Given the description of an element on the screen output the (x, y) to click on. 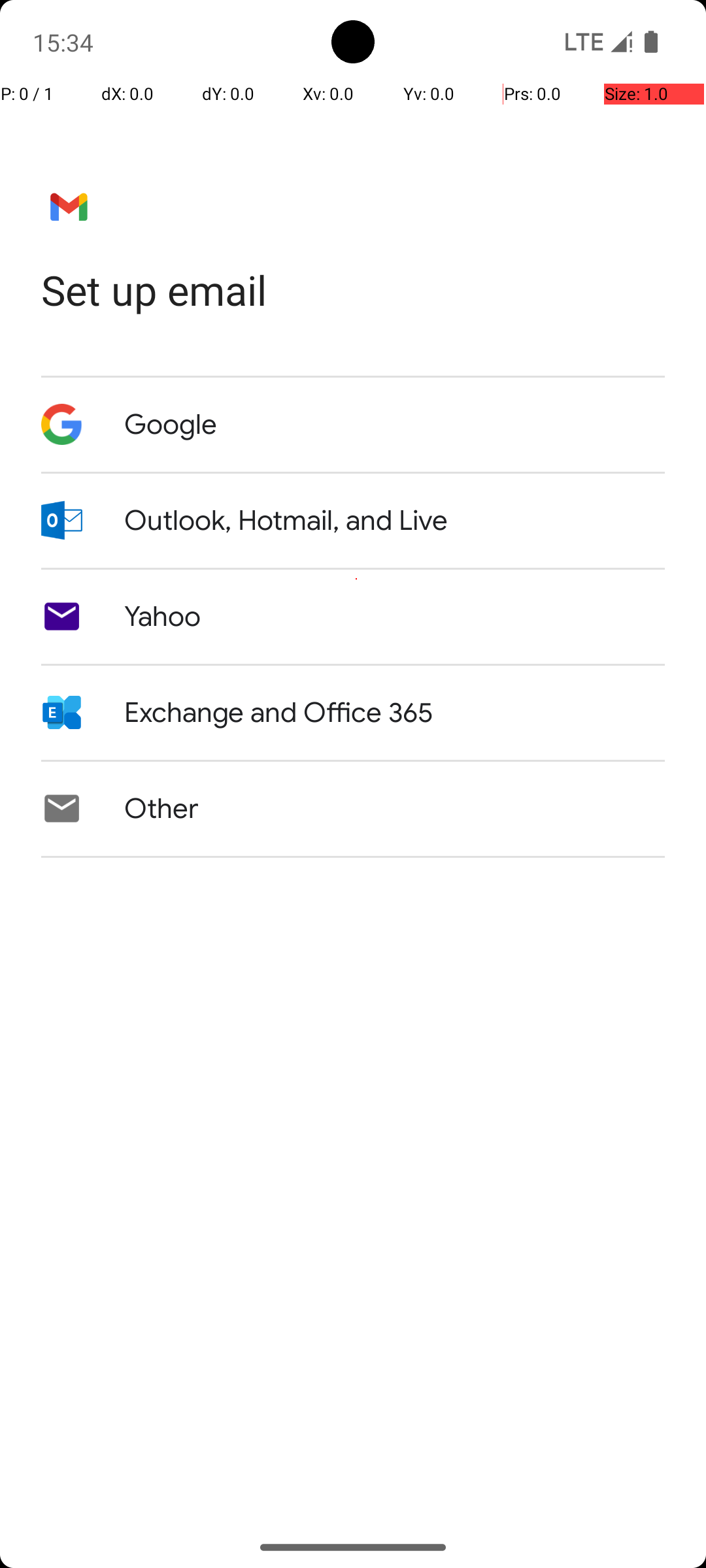
Set up email Element type: android.widget.TextView (352, 289)
Google Element type: android.widget.TextView (170, 424)
Outlook, Hotmail, and Live Element type: android.widget.TextView (286, 520)
Exchange and Office 365 Element type: android.widget.TextView (278, 712)
